Given the description of an element on the screen output the (x, y) to click on. 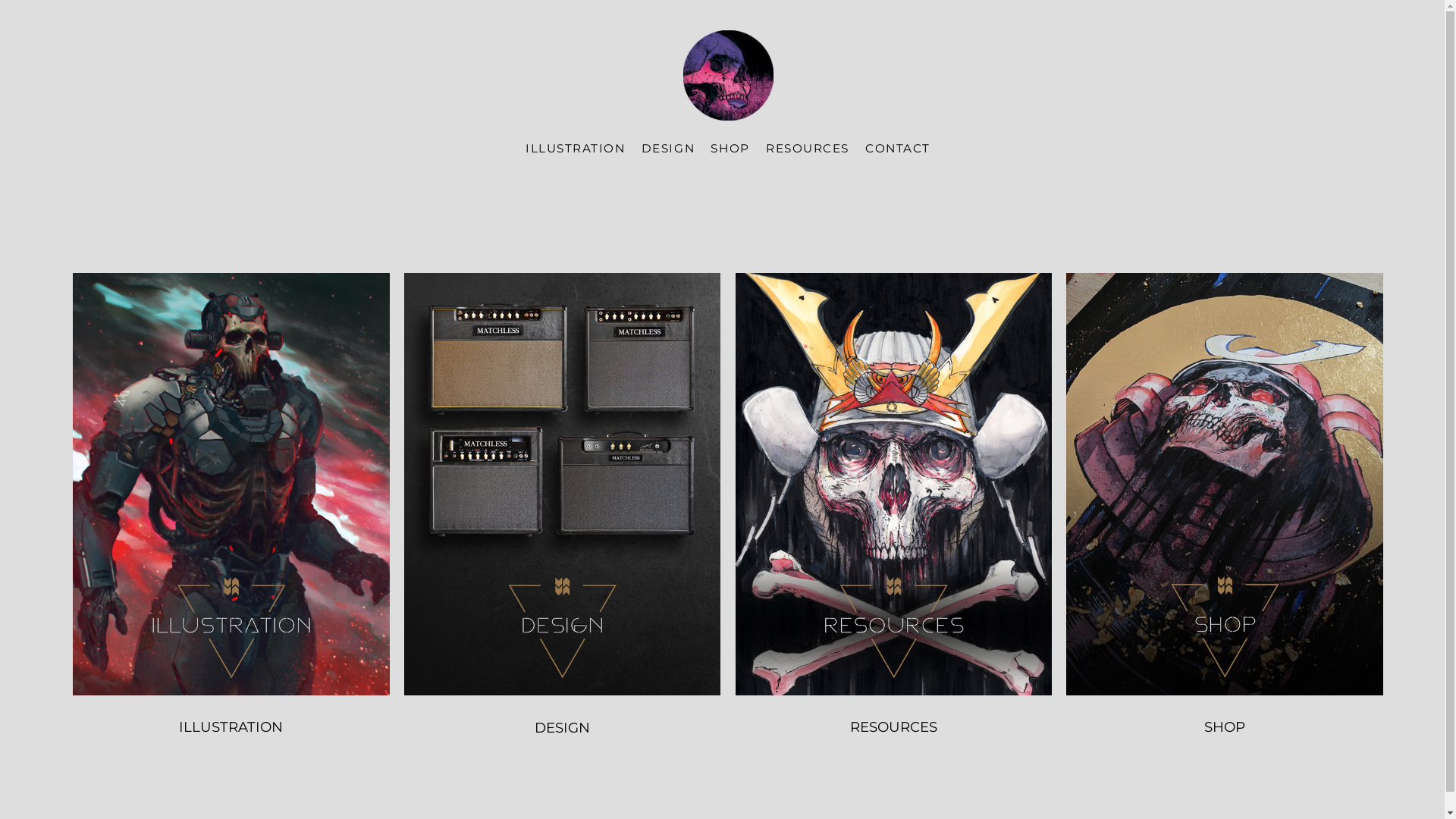
CONTACT Element type: text (897, 148)
RESOURCES Element type: text (893, 721)
ILLUSTRATION Element type: text (574, 148)
SHOP Element type: text (729, 148)
ILLUSTRATION Element type: text (230, 721)
DESIGN Element type: text (667, 148)
RESOURCES Element type: text (807, 148)
SHOP Element type: text (1224, 721)
DESIGN Element type: text (562, 721)
